Given the description of an element on the screen output the (x, y) to click on. 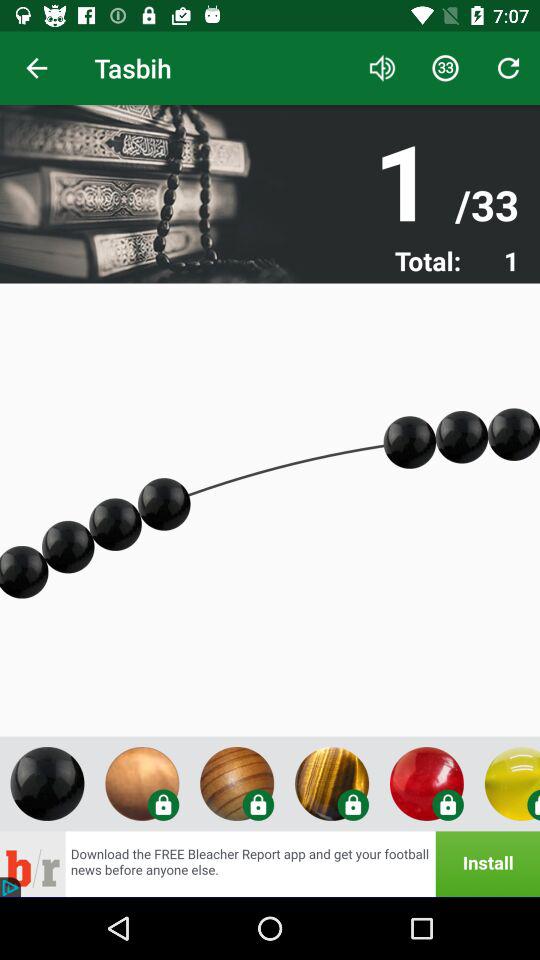
launch icon to the right of tasbih (381, 67)
